Given the description of an element on the screen output the (x, y) to click on. 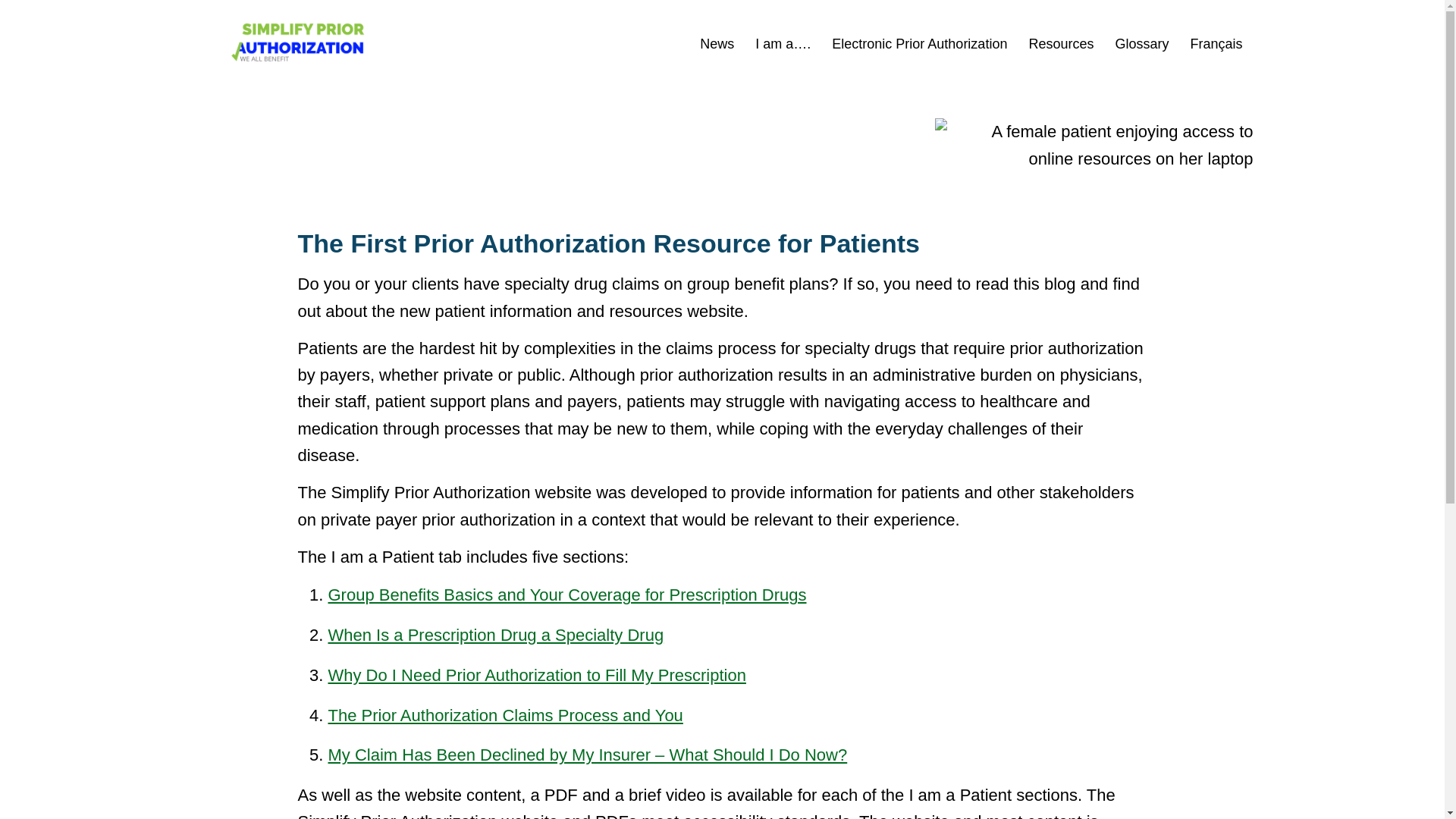
Glossary (1141, 43)
Electronic Prior Authorization (919, 43)
Resources (1060, 43)
spa-header-frame-patient-resource (1093, 144)
News (716, 43)
